Given the description of an element on the screen output the (x, y) to click on. 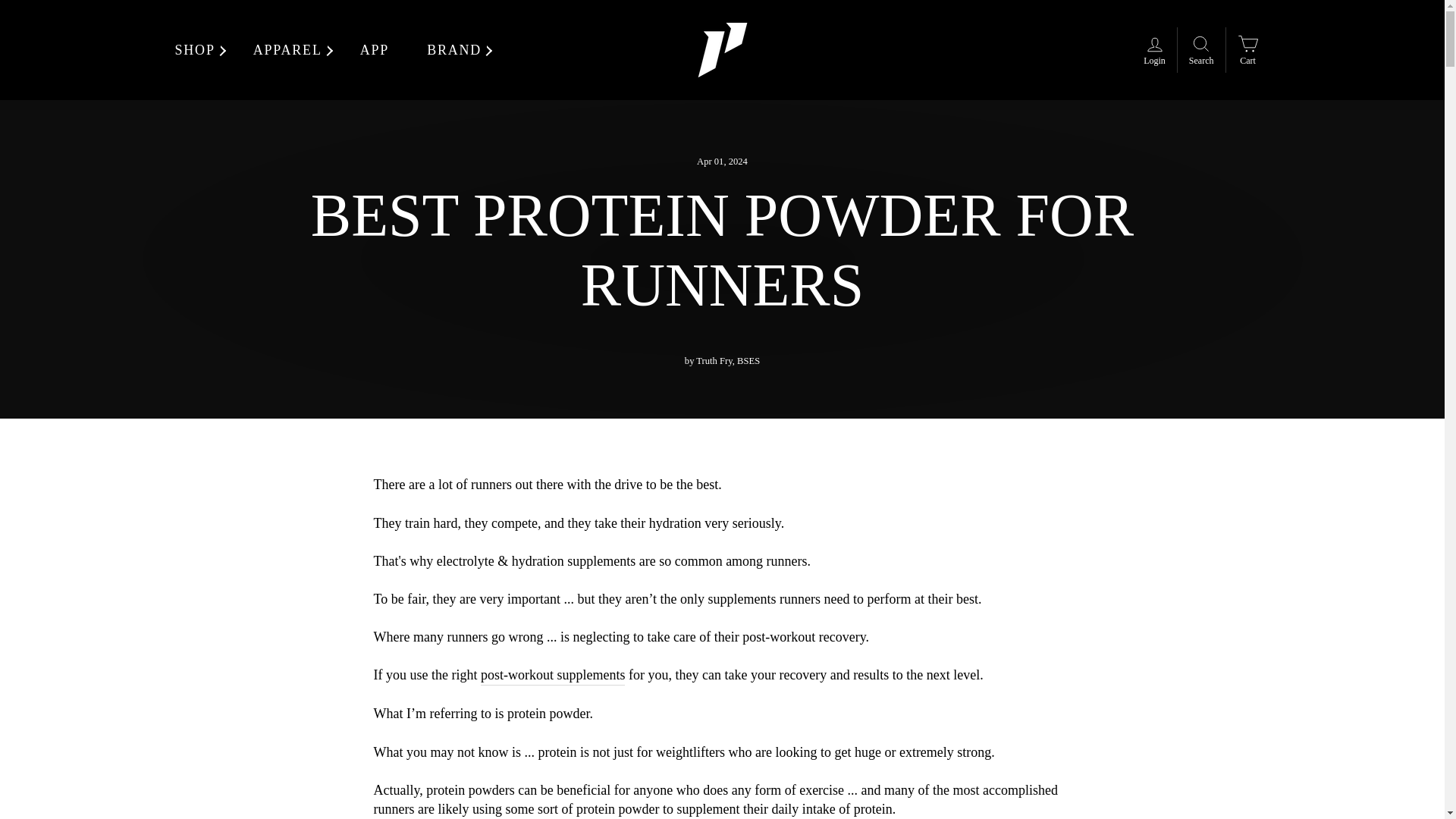
Post Workout Recovery Supplements (553, 675)
